Given the description of an element on the screen output the (x, y) to click on. 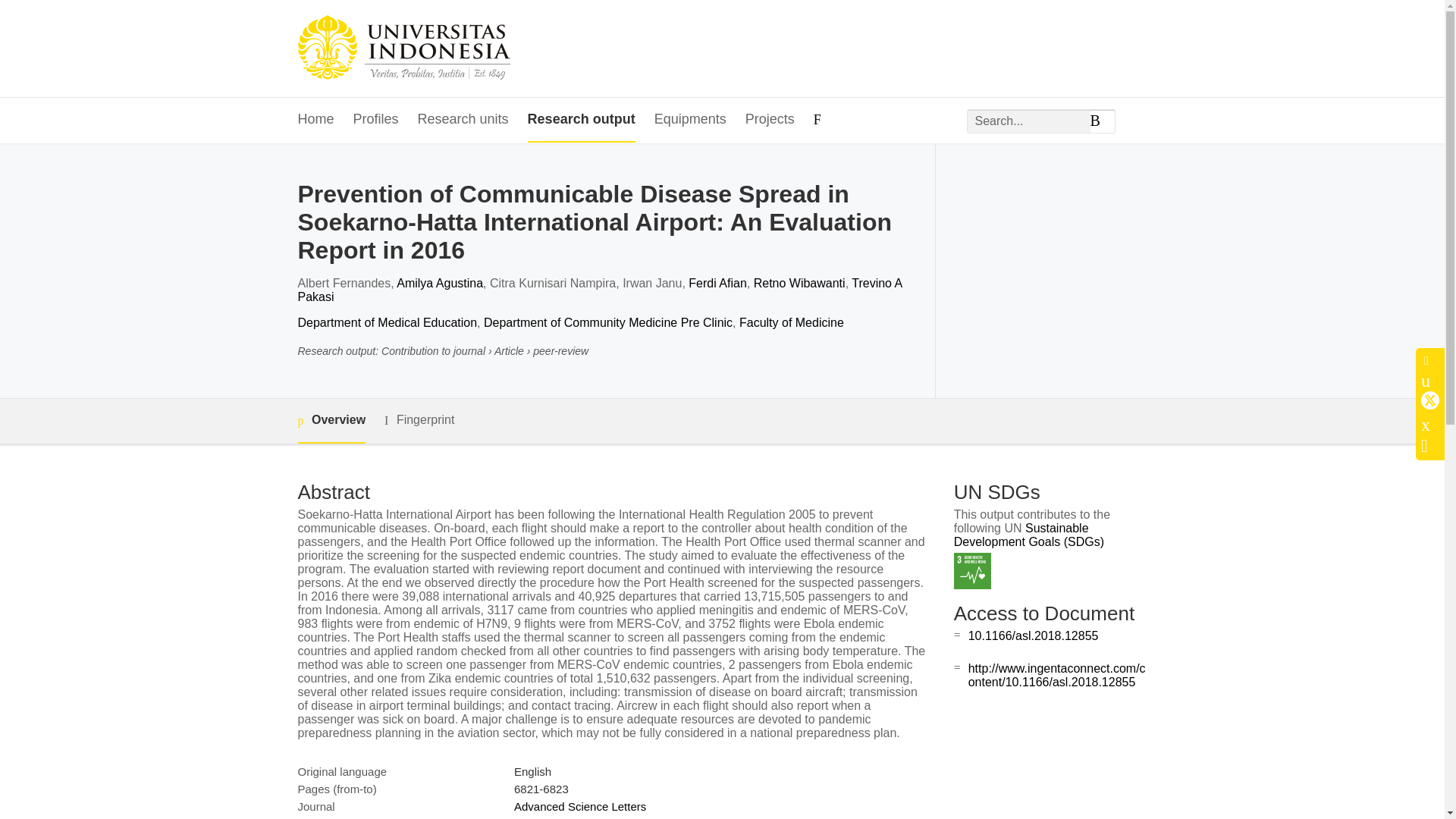
Trevino A Pakasi (599, 289)
Faculty of Medicine (791, 322)
Research output (580, 119)
Ferdi Afian (716, 282)
Advanced Science Letters (579, 806)
Department of Medical Education (387, 322)
Research units (462, 119)
Projects (769, 119)
Overview (331, 420)
SDG 3 - Good Health and Well-being (972, 570)
Equipments (689, 119)
Amilya Agustina (439, 282)
Universitas Indonesia Home (403, 48)
Department of Community Medicine Pre Clinic (607, 322)
